Given the description of an element on the screen output the (x, y) to click on. 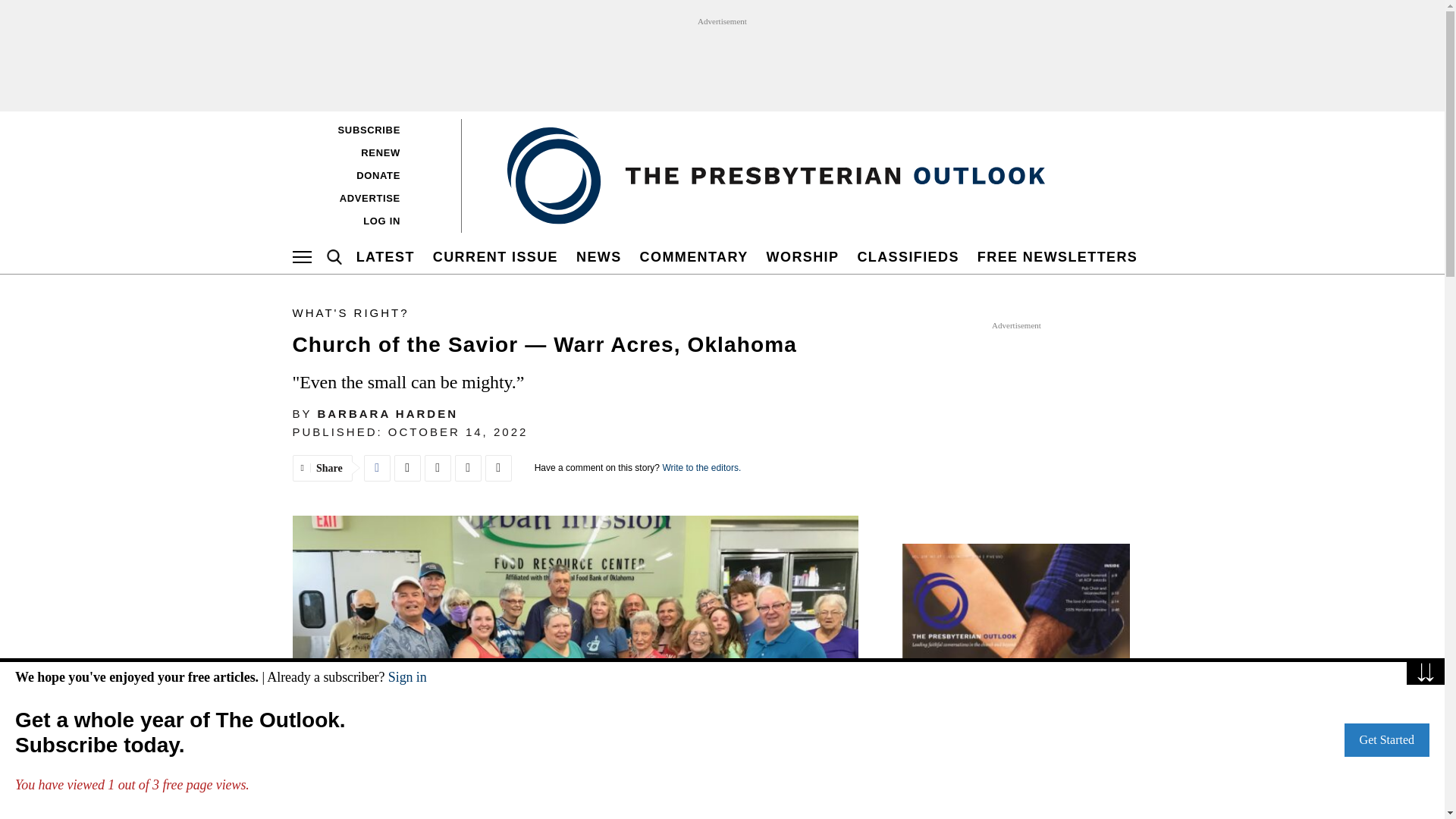
Classifieds (907, 255)
Renew (368, 151)
Commentary (694, 255)
Current Issue (495, 255)
Posts by Barbara Harden (387, 412)
3rd party ad content (722, 61)
FREE NEWSLETTERS (1057, 255)
NEWS (599, 255)
Donate (368, 174)
Subscribe (368, 128)
LATEST (385, 255)
Worship (802, 255)
Advertise (368, 197)
